Given the description of an element on the screen output the (x, y) to click on. 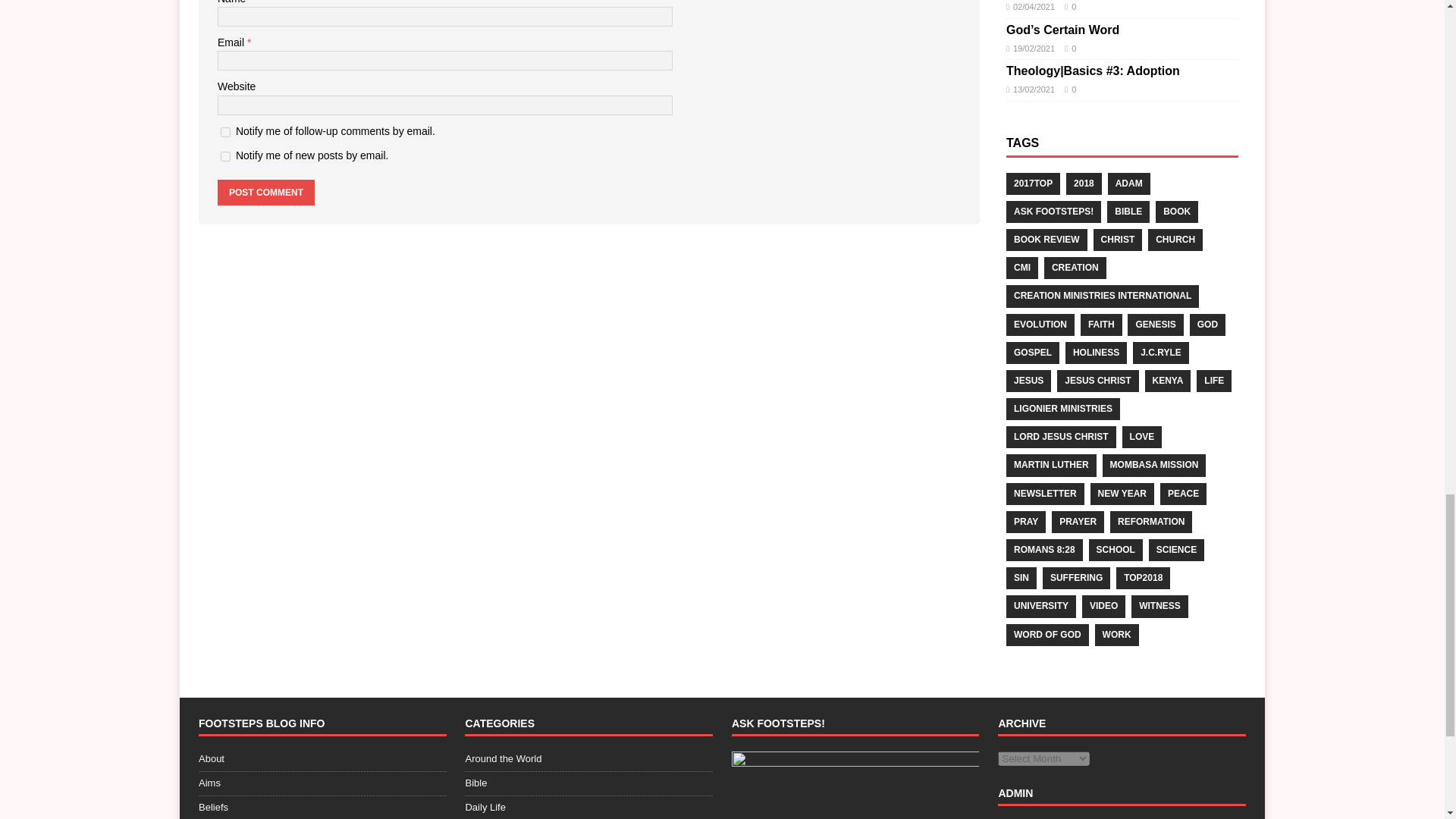
subscribe (225, 132)
Post Comment (265, 192)
subscribe (225, 156)
